Given the description of an element on the screen output the (x, y) to click on. 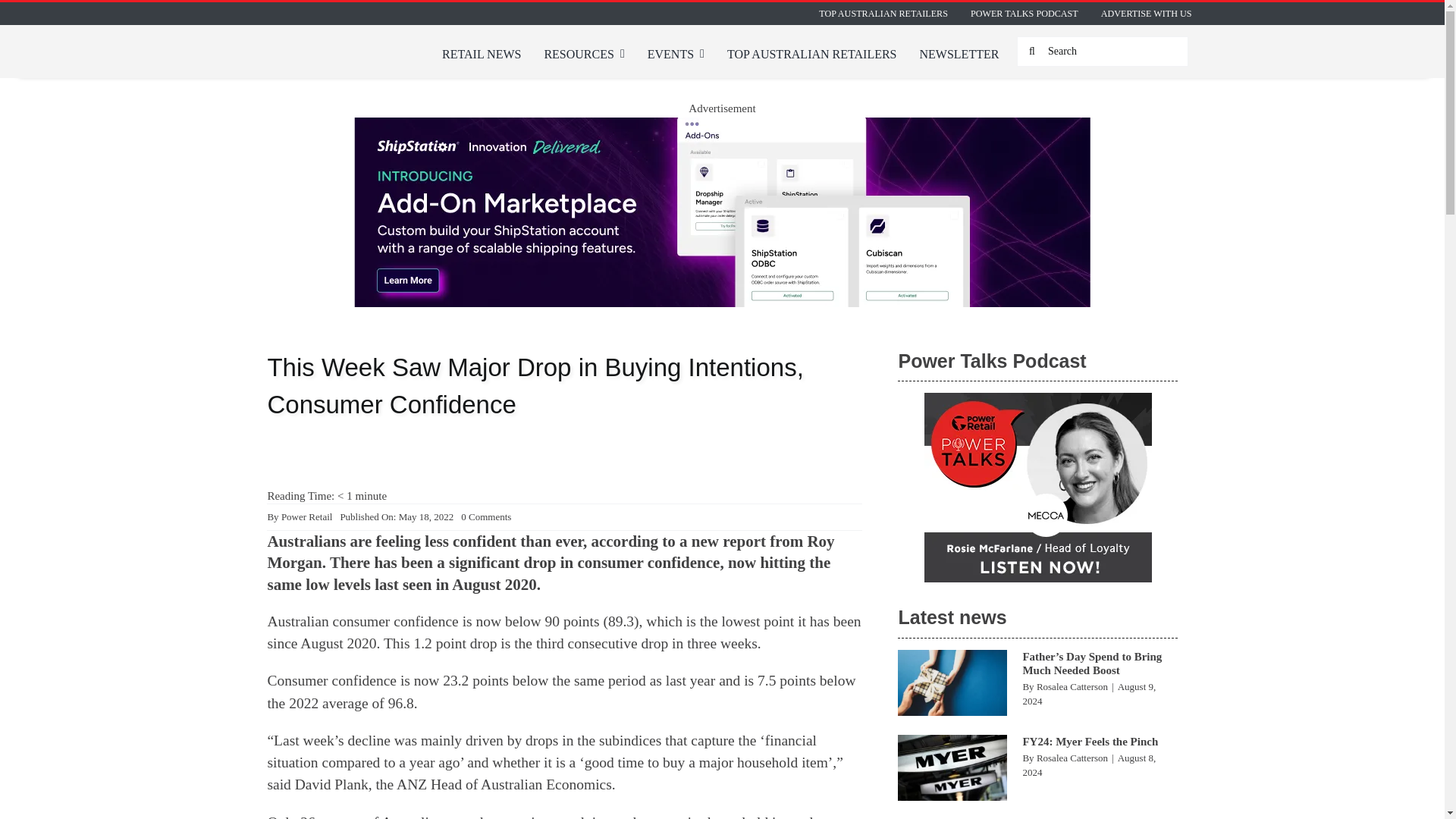
TOP AUSTRALIAN RETAILERS (883, 13)
RETAIL NEWS (481, 54)
NEWSLETTER (959, 54)
EVENTS (675, 54)
TOP AUSTRALIAN RETAILERS (811, 54)
ADVERTISE WITH US (1146, 13)
Posts by Power Retail (307, 516)
POWER TALKS PODCAST (1023, 13)
Posts by Rosalea Catterson (1072, 686)
Posts by Rosalea Catterson (1072, 757)
